Given the description of an element on the screen output the (x, y) to click on. 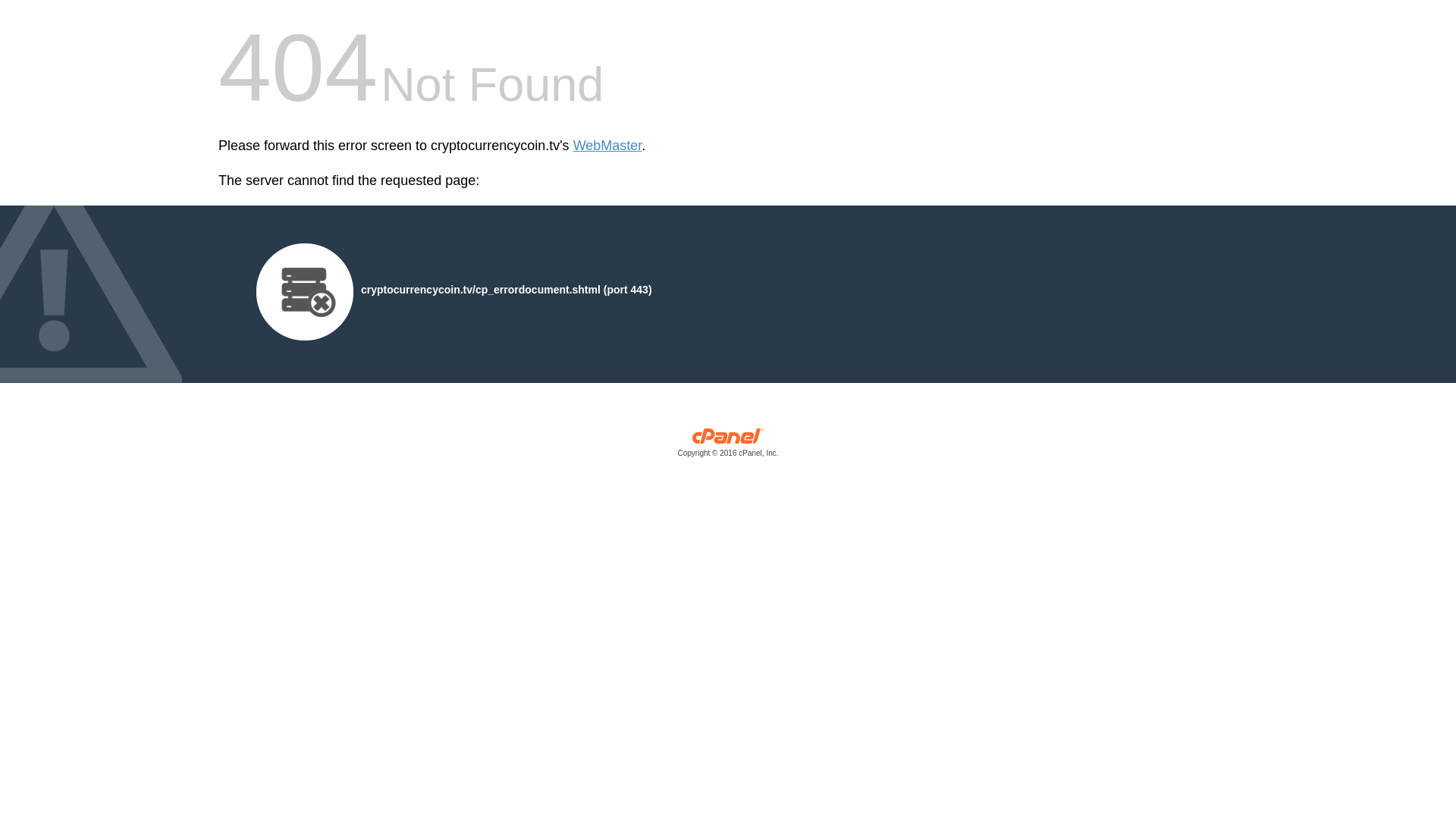
cPanel, Inc. (727, 446)
WebMaster (607, 145)
